Given the description of an element on the screen output the (x, y) to click on. 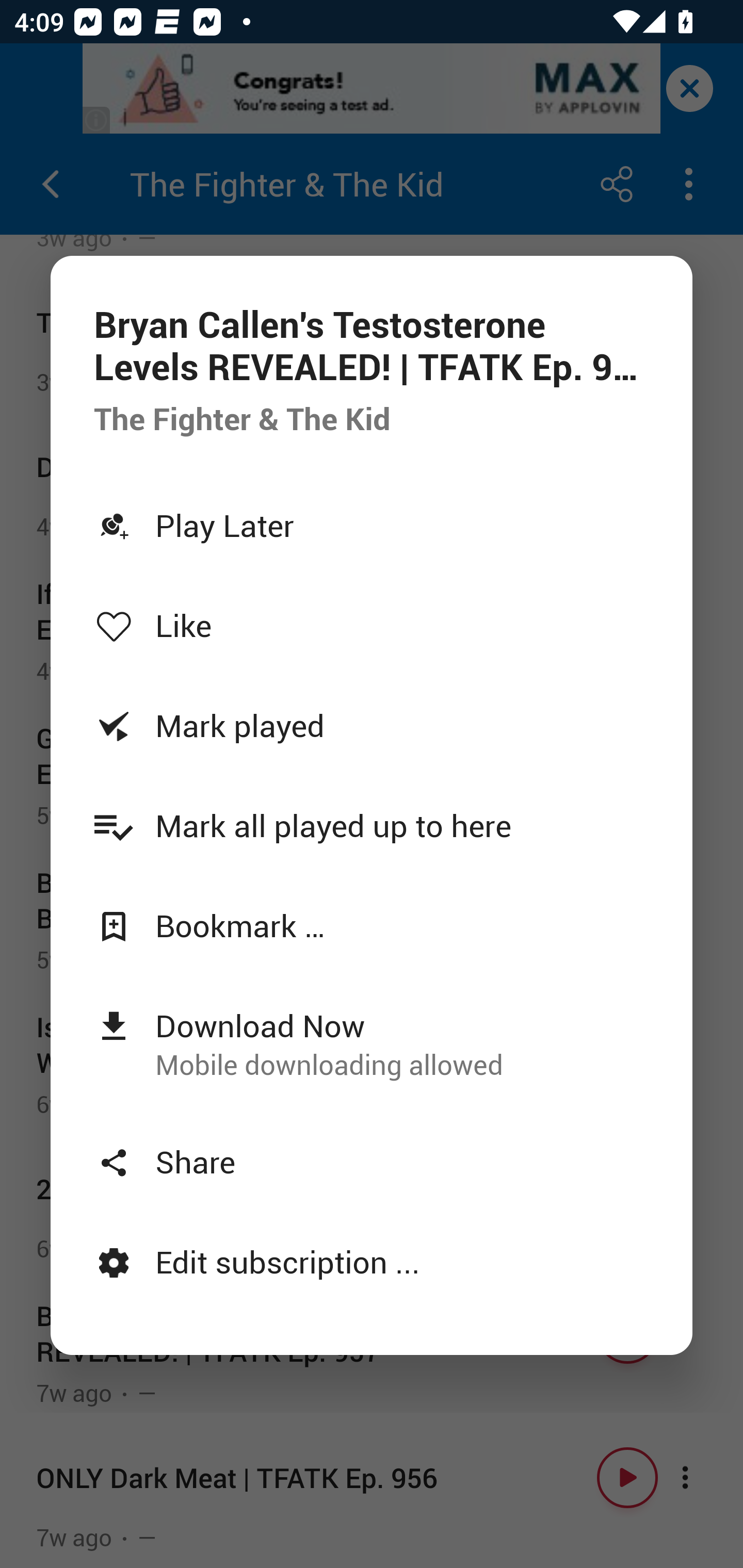
Play Later (371, 525)
Like (371, 625)
Mark played (371, 724)
Mark all played up to here (371, 824)
Bookmark … (371, 924)
Download Now Mobile downloading allowed (371, 1043)
Share (371, 1161)
Edit subscription ... (371, 1262)
